Given the description of an element on the screen output the (x, y) to click on. 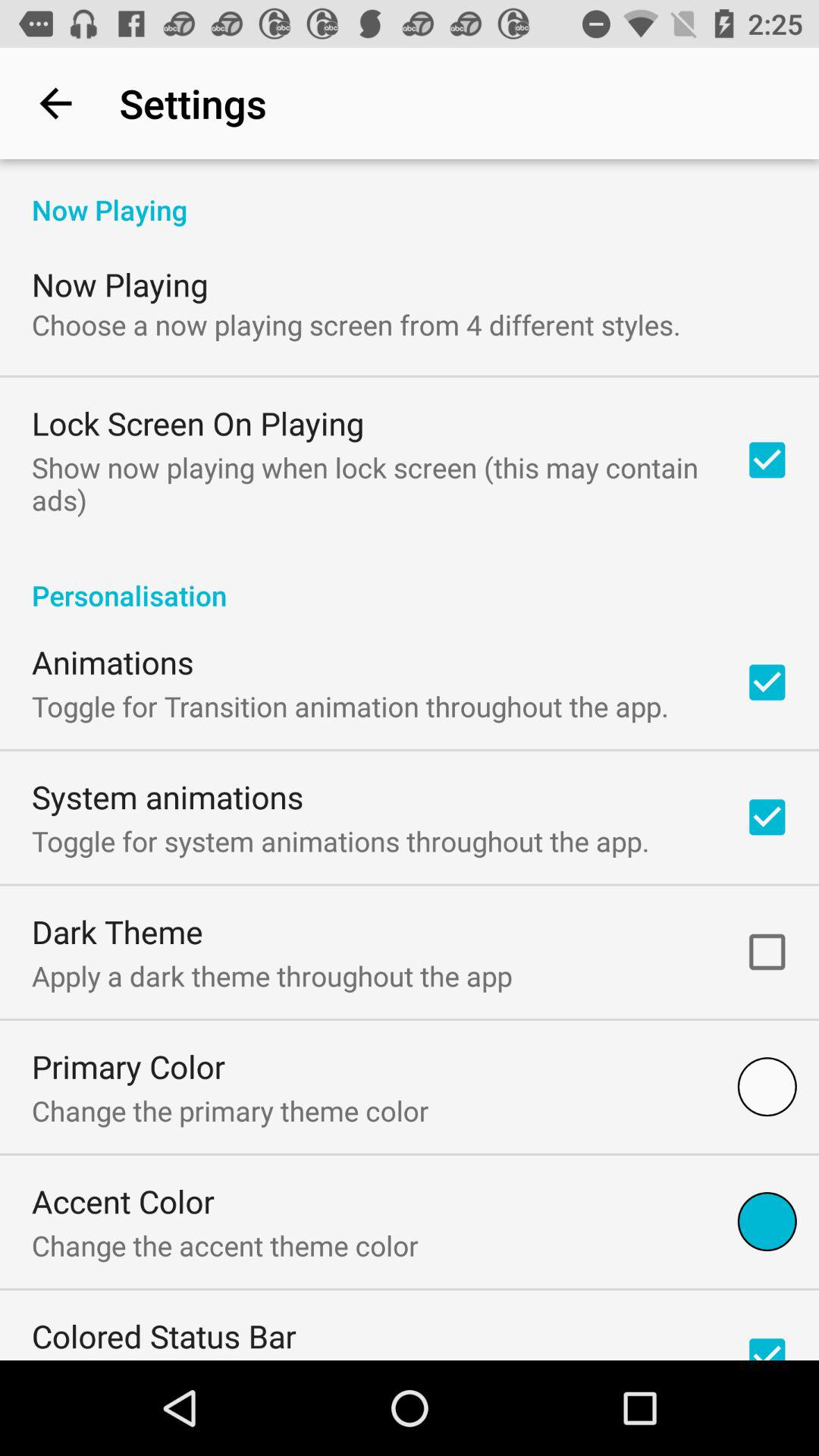
select icon above animations item (409, 579)
